Given the description of an element on the screen output the (x, y) to click on. 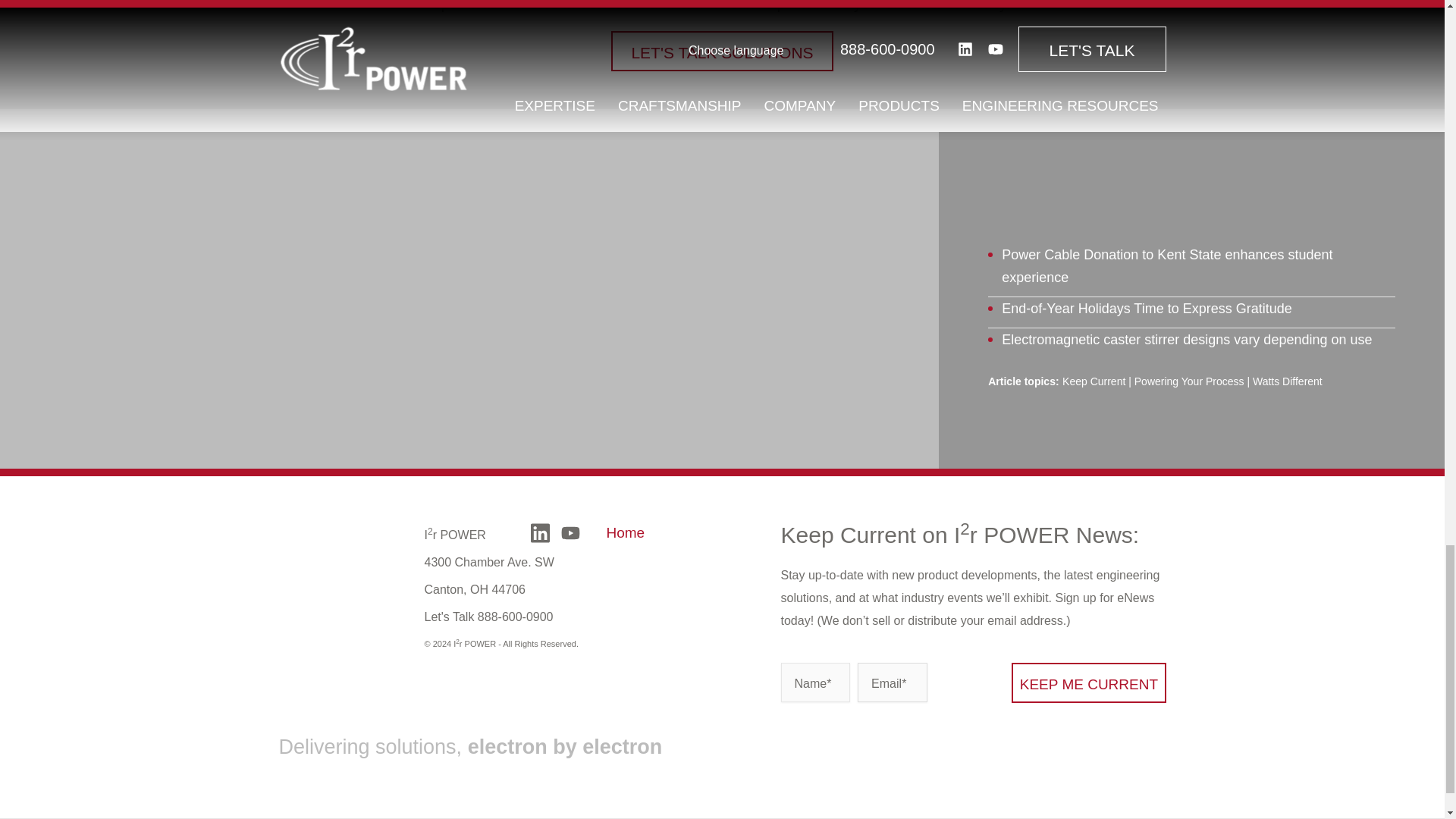
Keep Me Current (1088, 682)
I2r POWER footer logo (340, 543)
End-of-Year Holidays Time to Express Gratitude (1146, 308)
Electromagnetic caster stirrer designs vary depending on use (1186, 339)
